Given the description of an element on the screen output the (x, y) to click on. 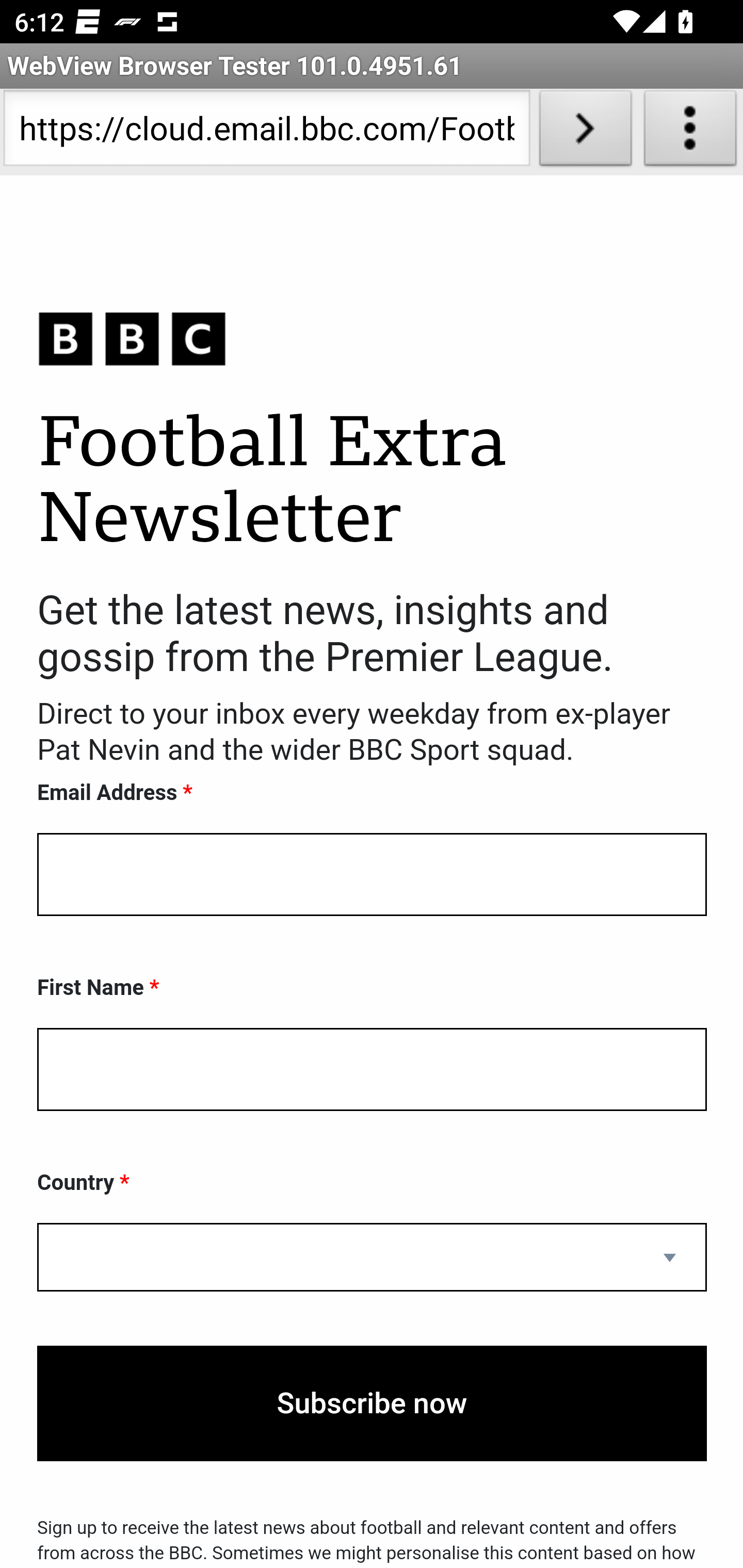
Load URL (585, 132)
About WebView (690, 132)
BBC (372, 338)
Subscribe now (372, 1403)
